Given the description of an element on the screen output the (x, y) to click on. 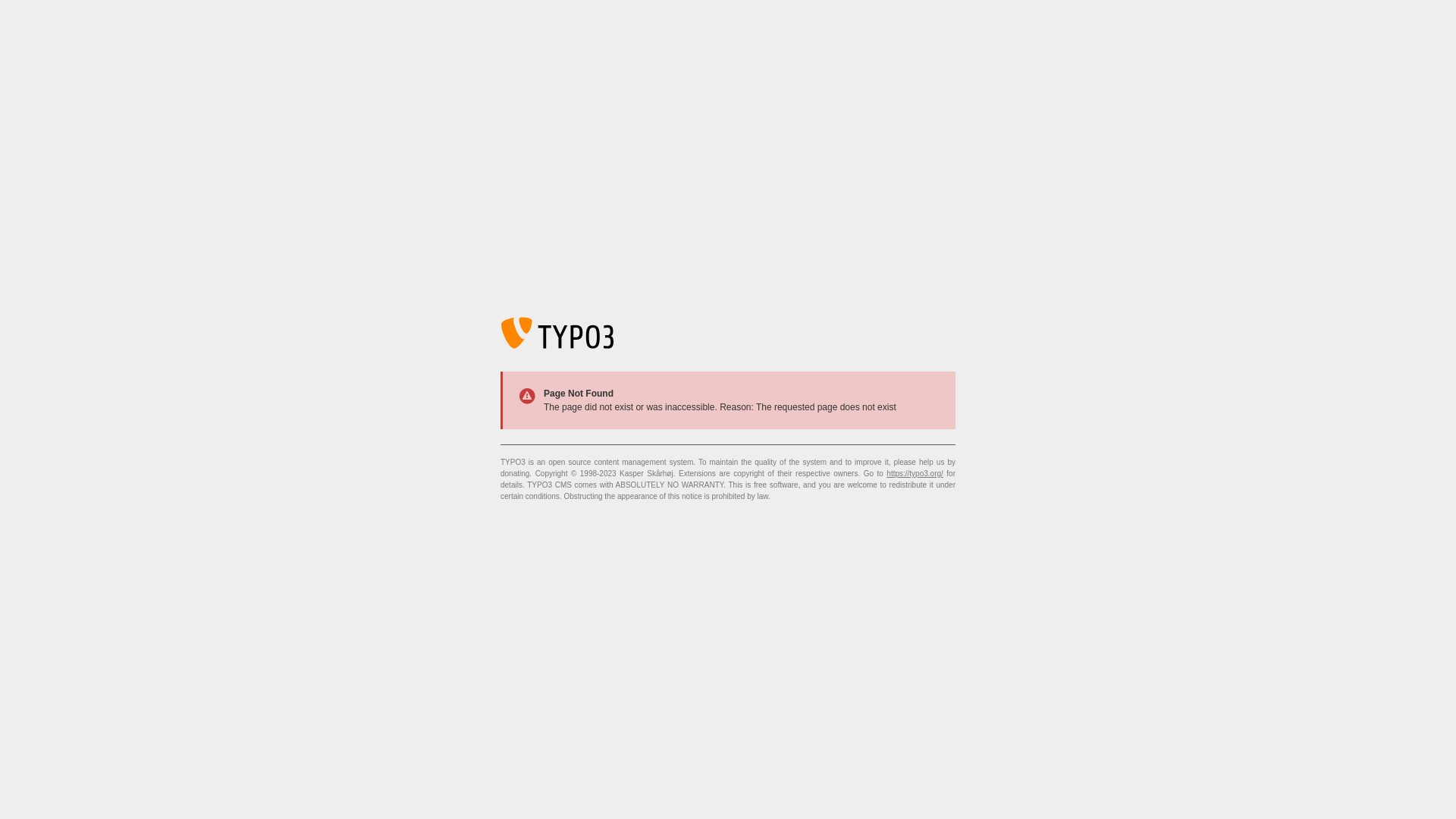
https://typo3.org/ Element type: text (914, 473)
